Given the description of an element on the screen output the (x, y) to click on. 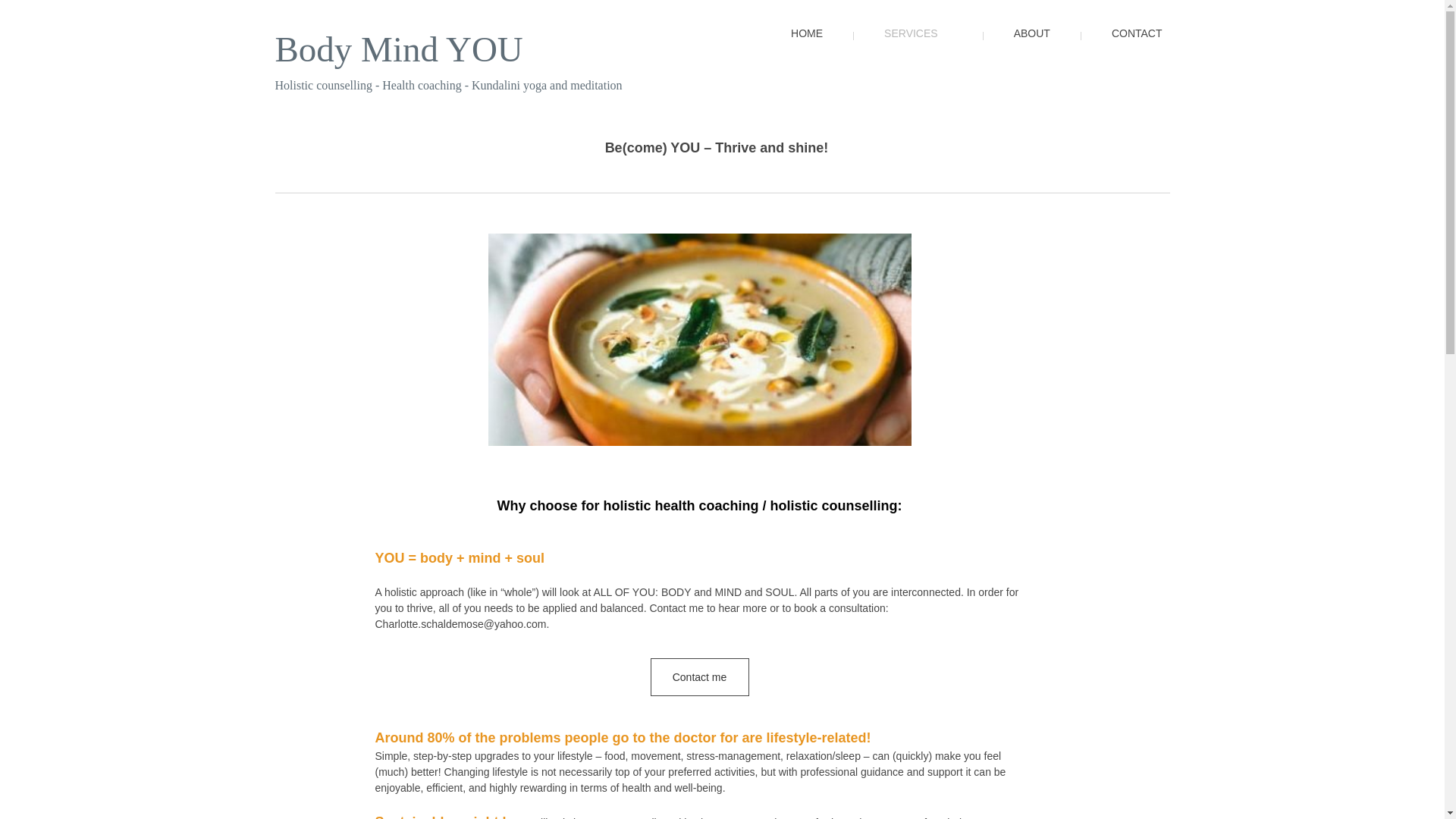
ABOUT (1021, 45)
Contact me (699, 677)
CONTACT (1125, 45)
HOME (794, 45)
SERVICES (906, 45)
